Given the description of an element on the screen output the (x, y) to click on. 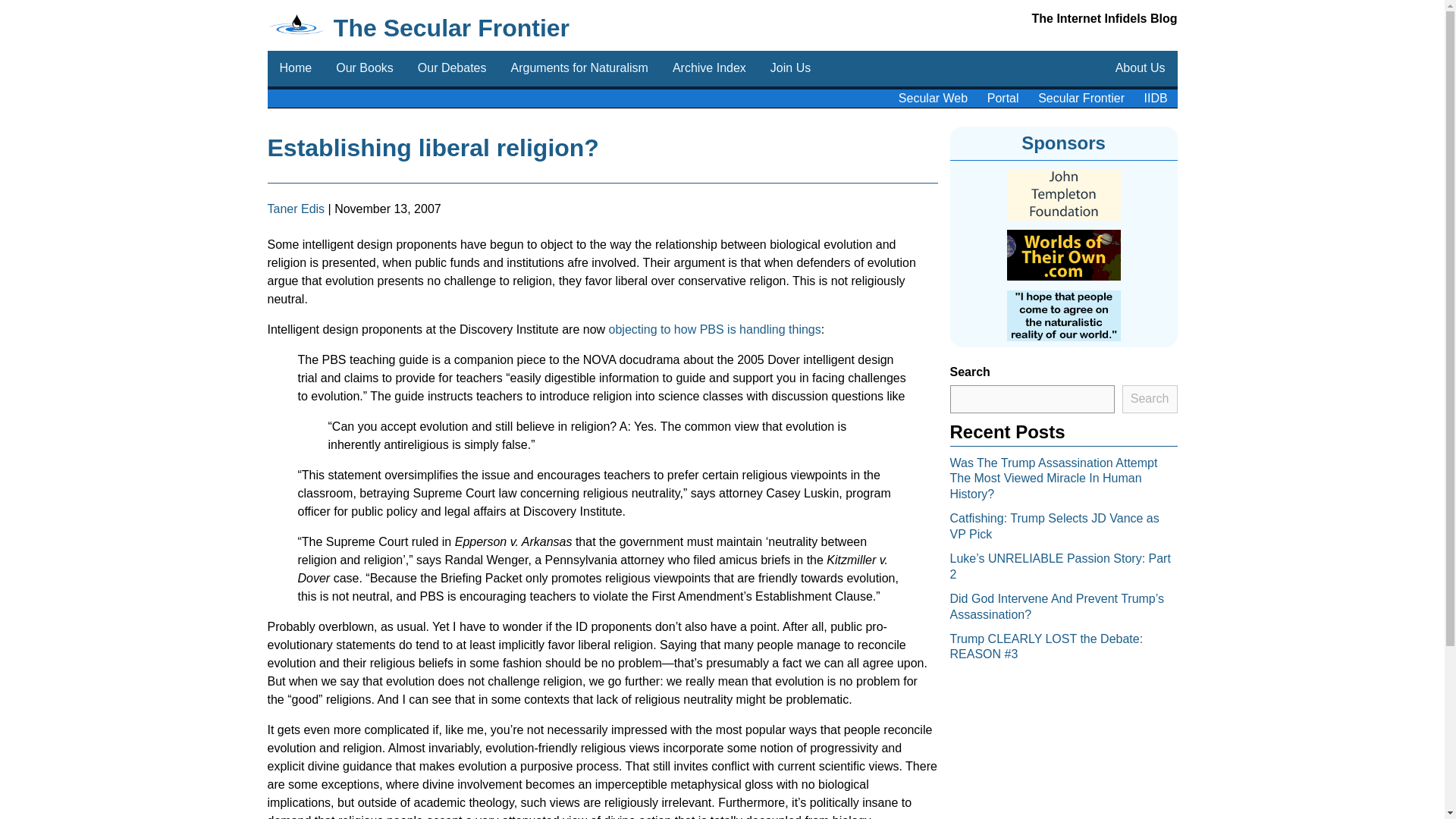
Search (1149, 398)
Secular Web (932, 98)
Catfishing: Trump Selects JD Vance as VP Pick (1053, 525)
objecting to how PBS is handling things (714, 328)
Join Us (790, 67)
Home (294, 67)
The Secular Frontier (451, 27)
Arguments for Naturalism (580, 67)
Establishing liberal religion? (432, 147)
The Secular Frontier (451, 27)
Secular Frontier (1080, 98)
Our Books (364, 67)
About Us (1140, 67)
Our Debates (452, 67)
Portal (1001, 98)
